Given the description of an element on the screen output the (x, y) to click on. 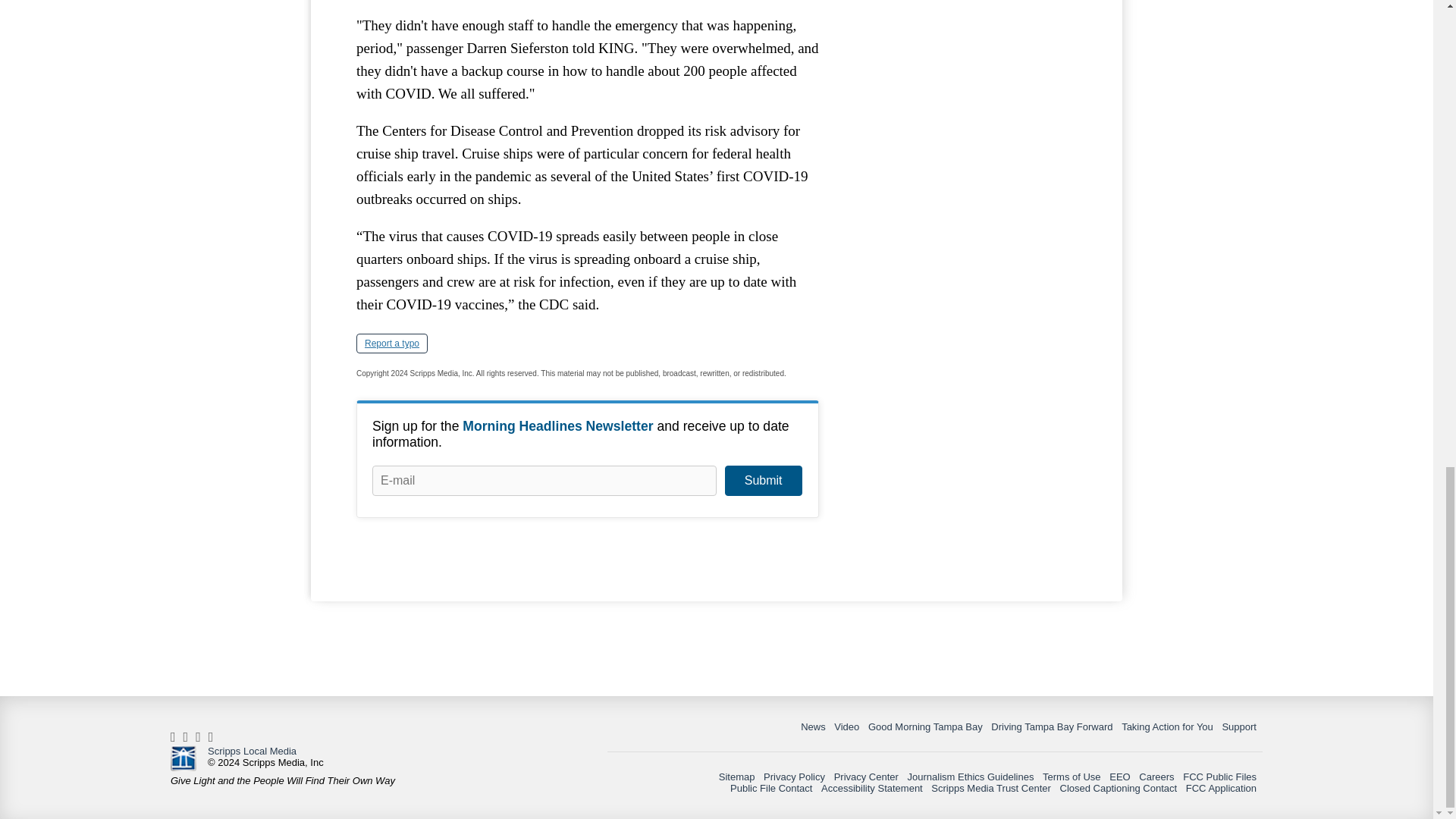
Submit (763, 481)
